Given the description of an element on the screen output the (x, y) to click on. 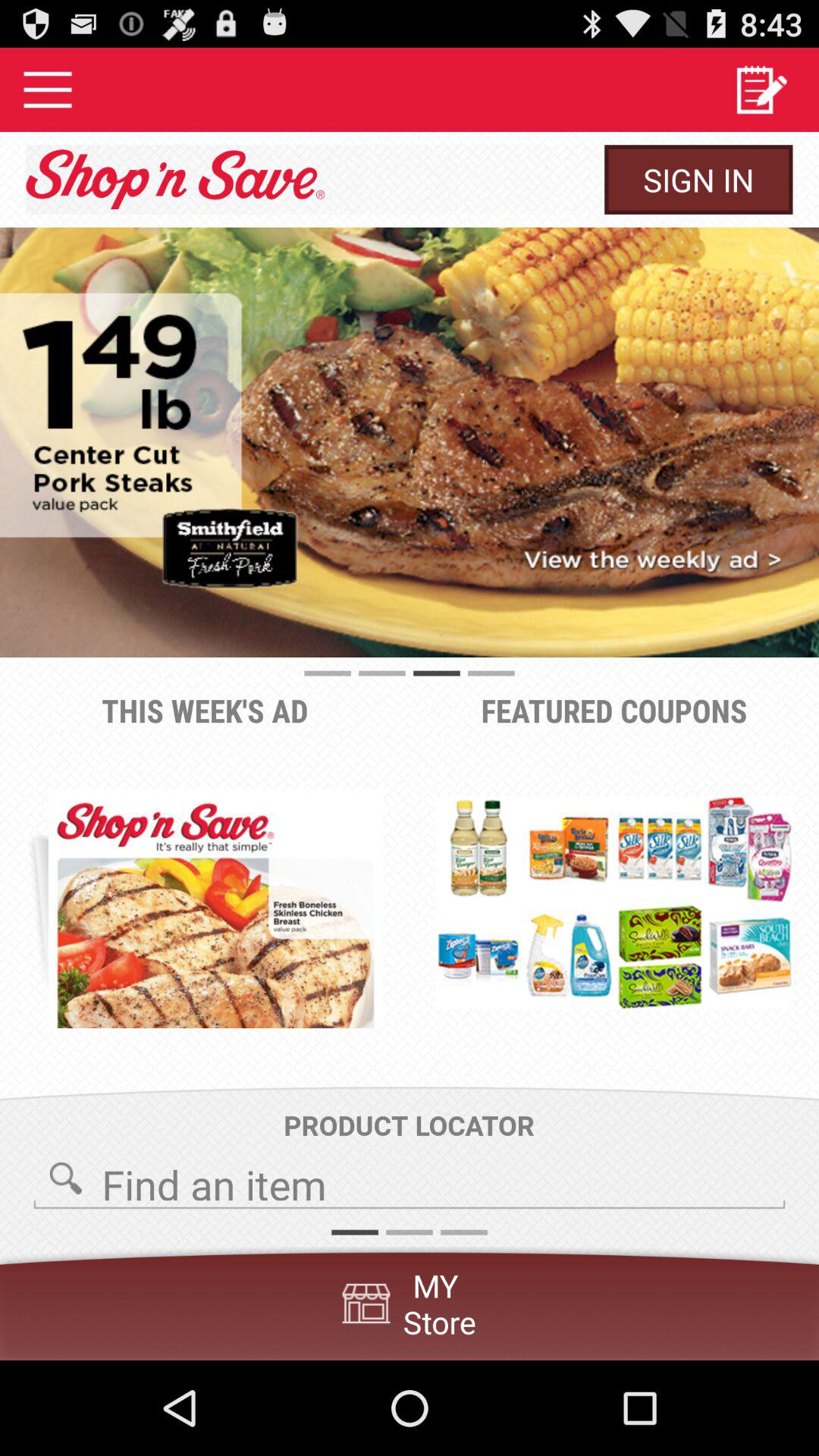
scroll to the sign in button (698, 179)
